Given the description of an element on the screen output the (x, y) to click on. 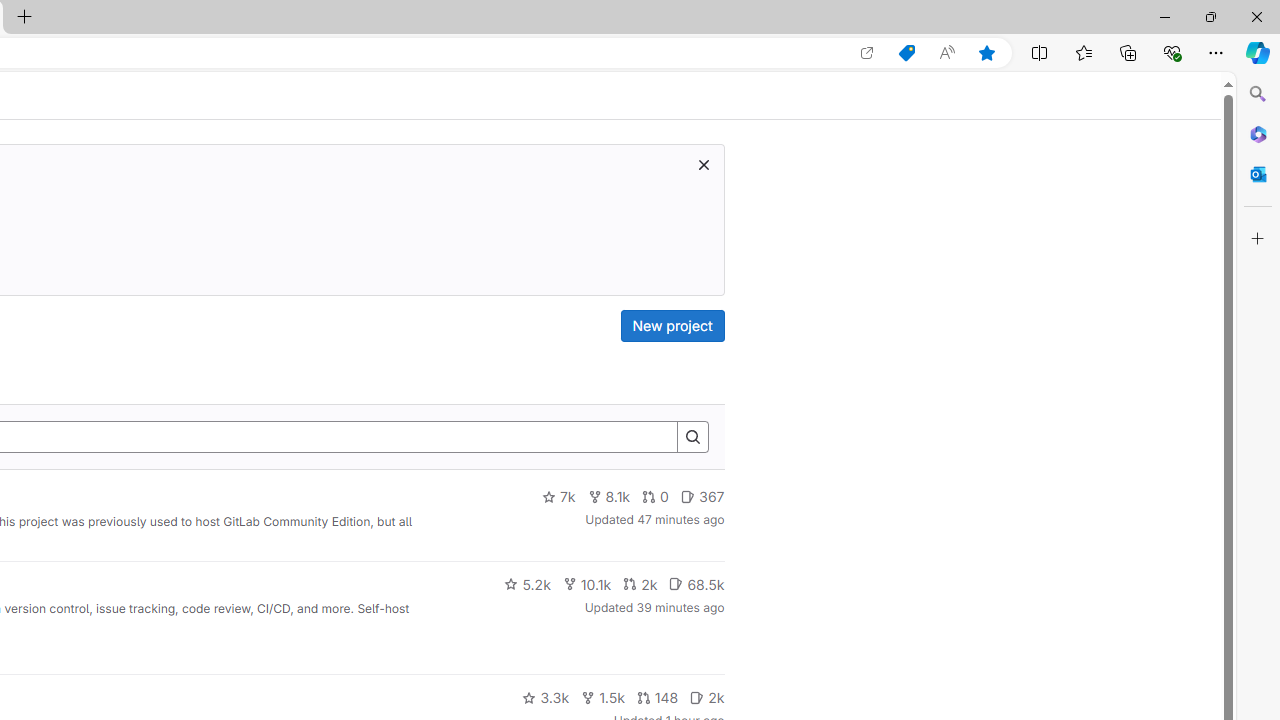
2k (706, 697)
Open in app (867, 53)
5.2k (527, 583)
Class: s14 gl-mr-2 (697, 696)
8.1k (609, 497)
